Given the description of an element on the screen output the (x, y) to click on. 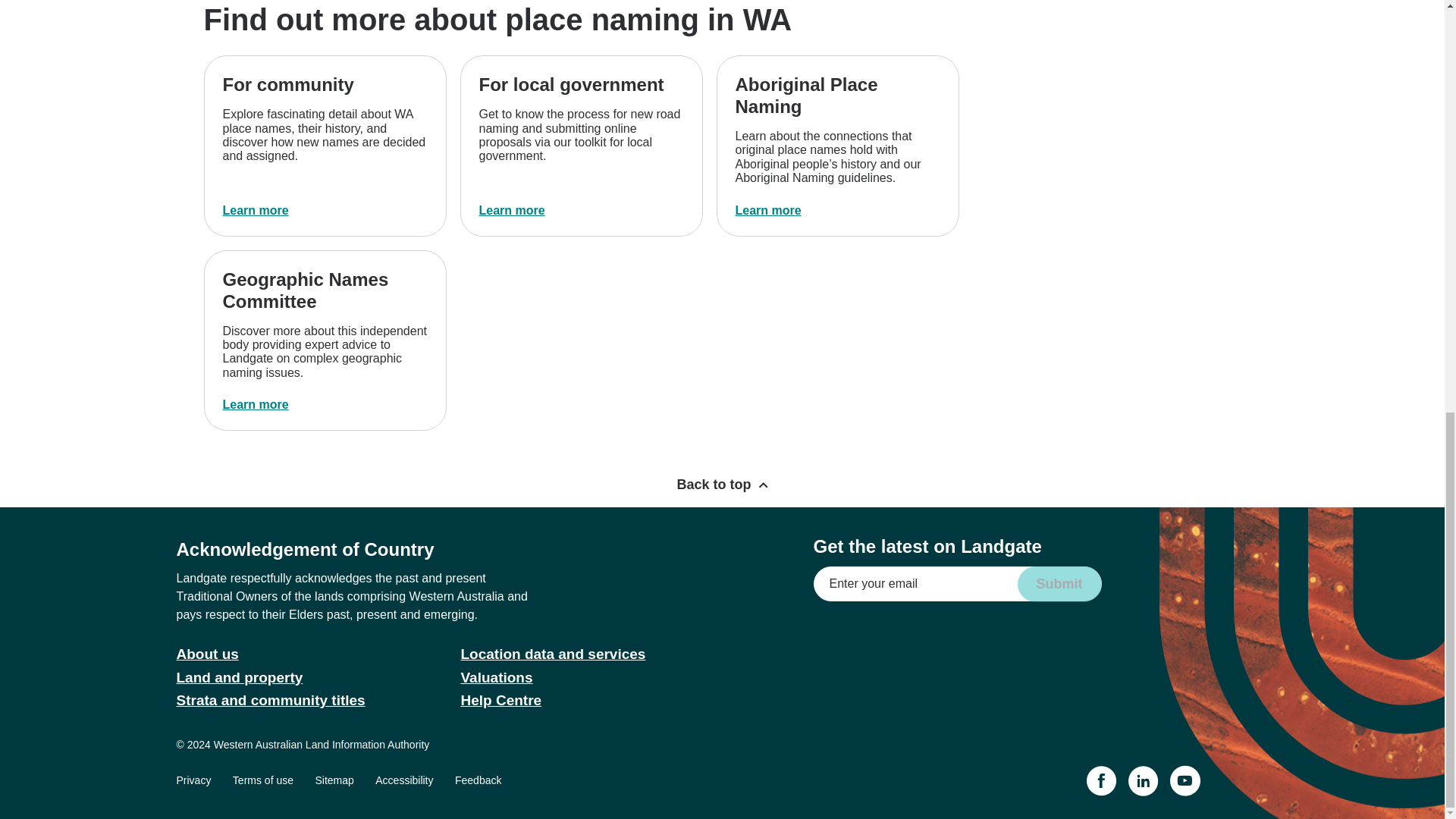
Valuations (496, 677)
Help Centre (501, 700)
Location data and services (553, 653)
